Given the description of an element on the screen output the (x, y) to click on. 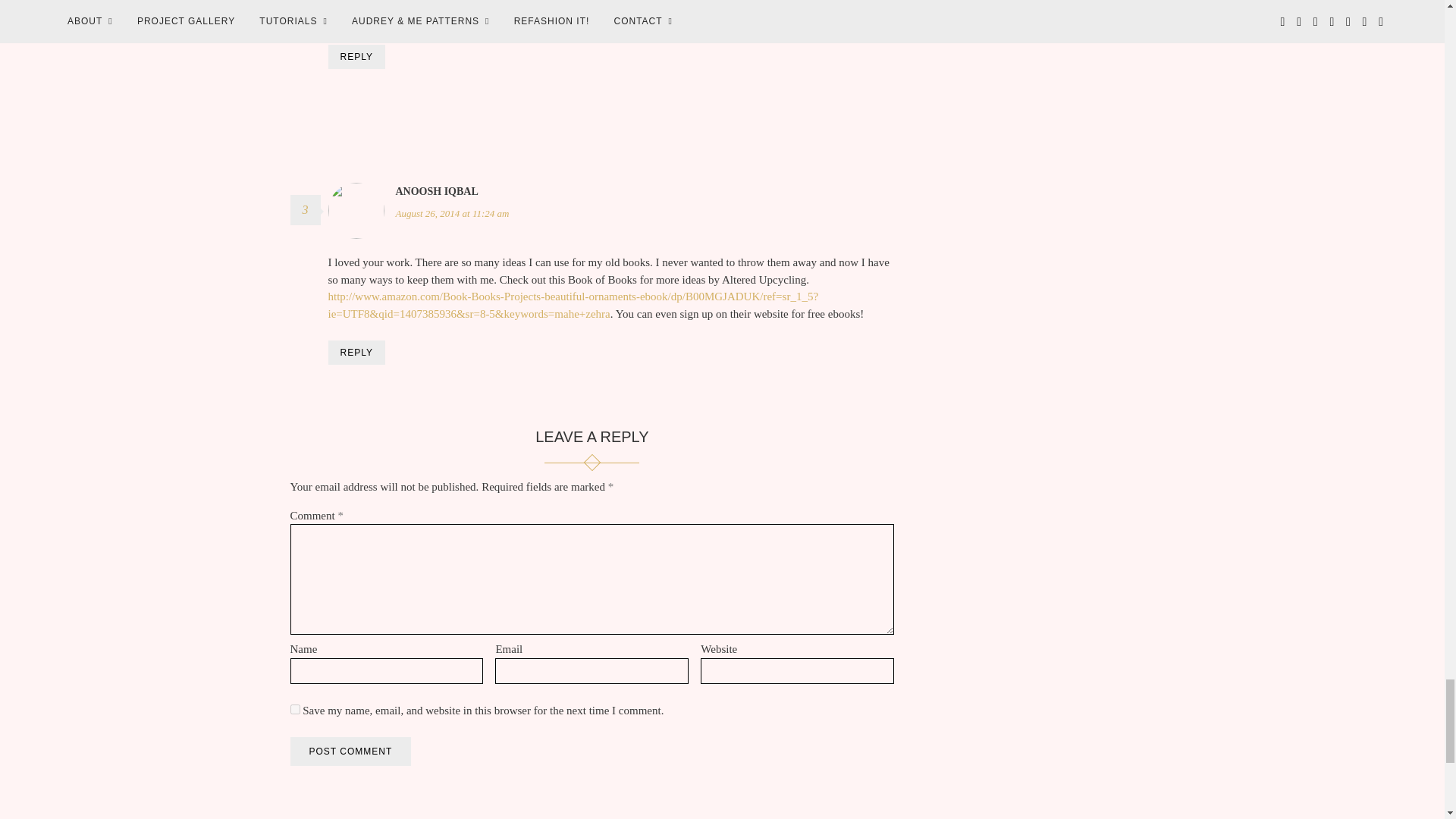
Post Comment (349, 751)
yes (294, 709)
